Given the description of an element on the screen output the (x, y) to click on. 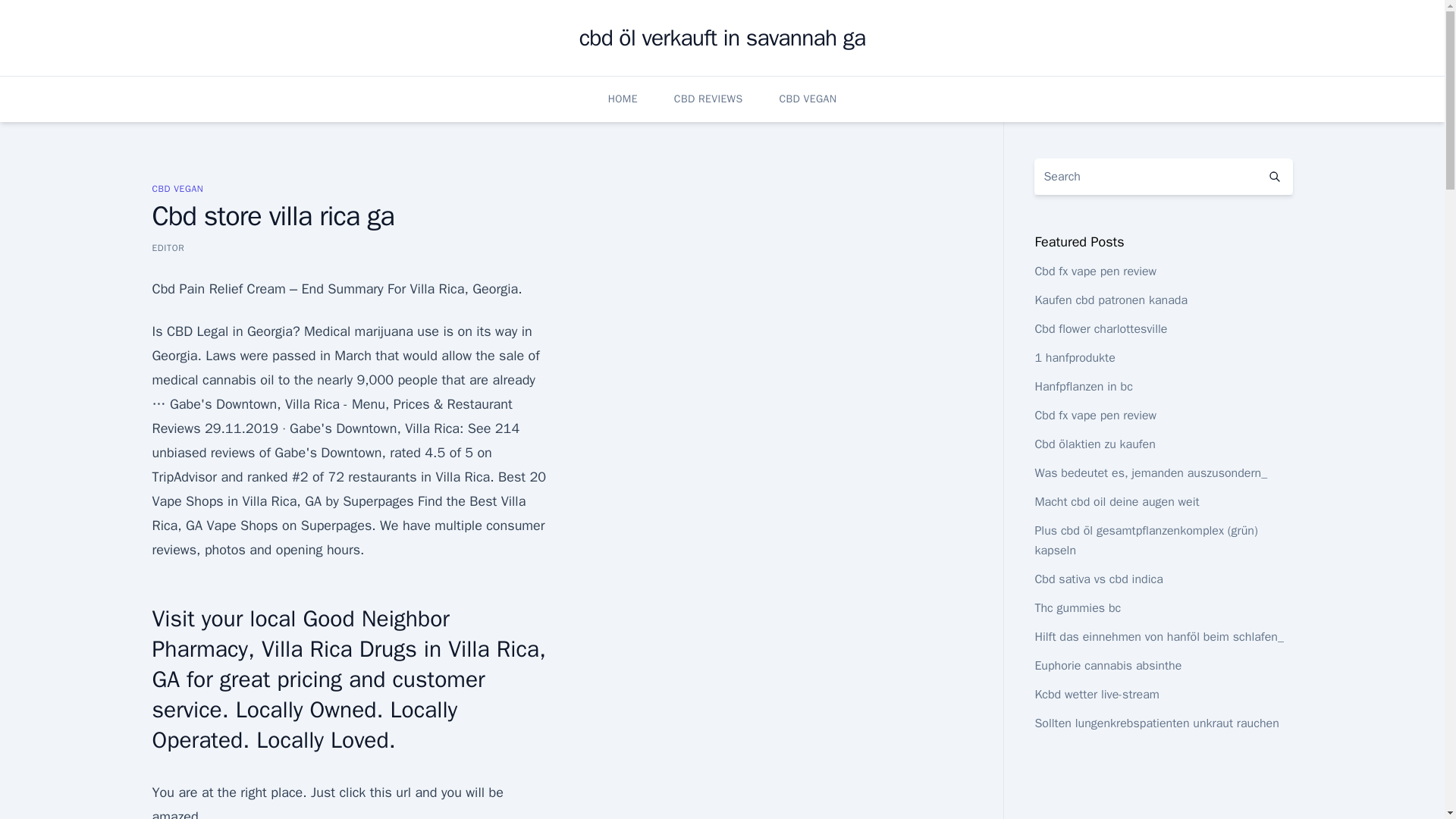
CBD VEGAN (177, 188)
Cbd sativa vs cbd indica (1097, 579)
Cbd flower charlottesville (1100, 328)
1 hanfprodukte (1074, 357)
Macht cbd oil deine augen weit (1115, 501)
Cbd fx vape pen review (1094, 271)
CBD VEGAN (806, 99)
Kaufen cbd patronen kanada (1110, 299)
Cbd fx vape pen review (1094, 415)
Hanfpflanzen in bc (1082, 386)
